Given the description of an element on the screen output the (x, y) to click on. 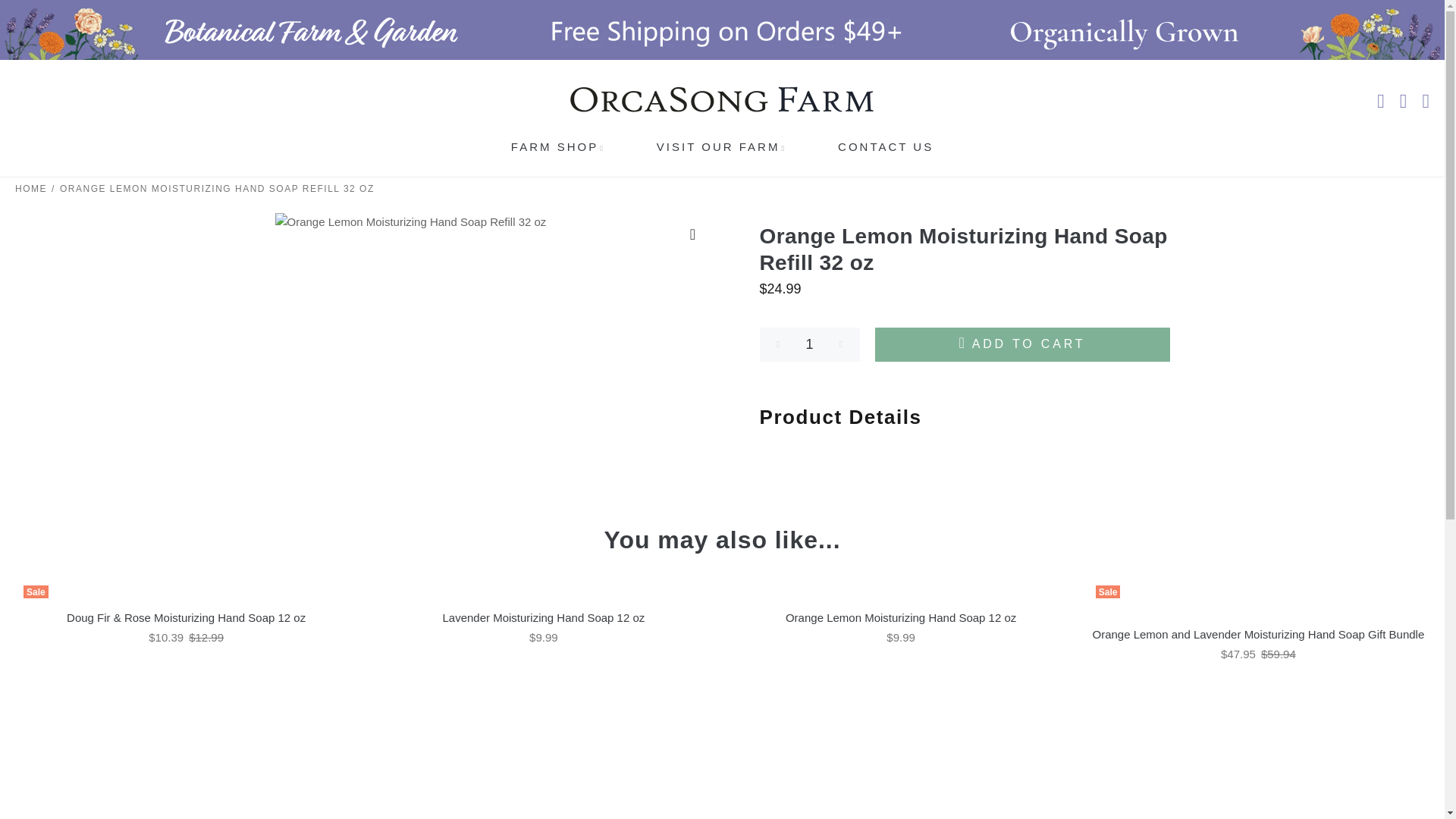
1 (810, 344)
